Given the description of an element on the screen output the (x, y) to click on. 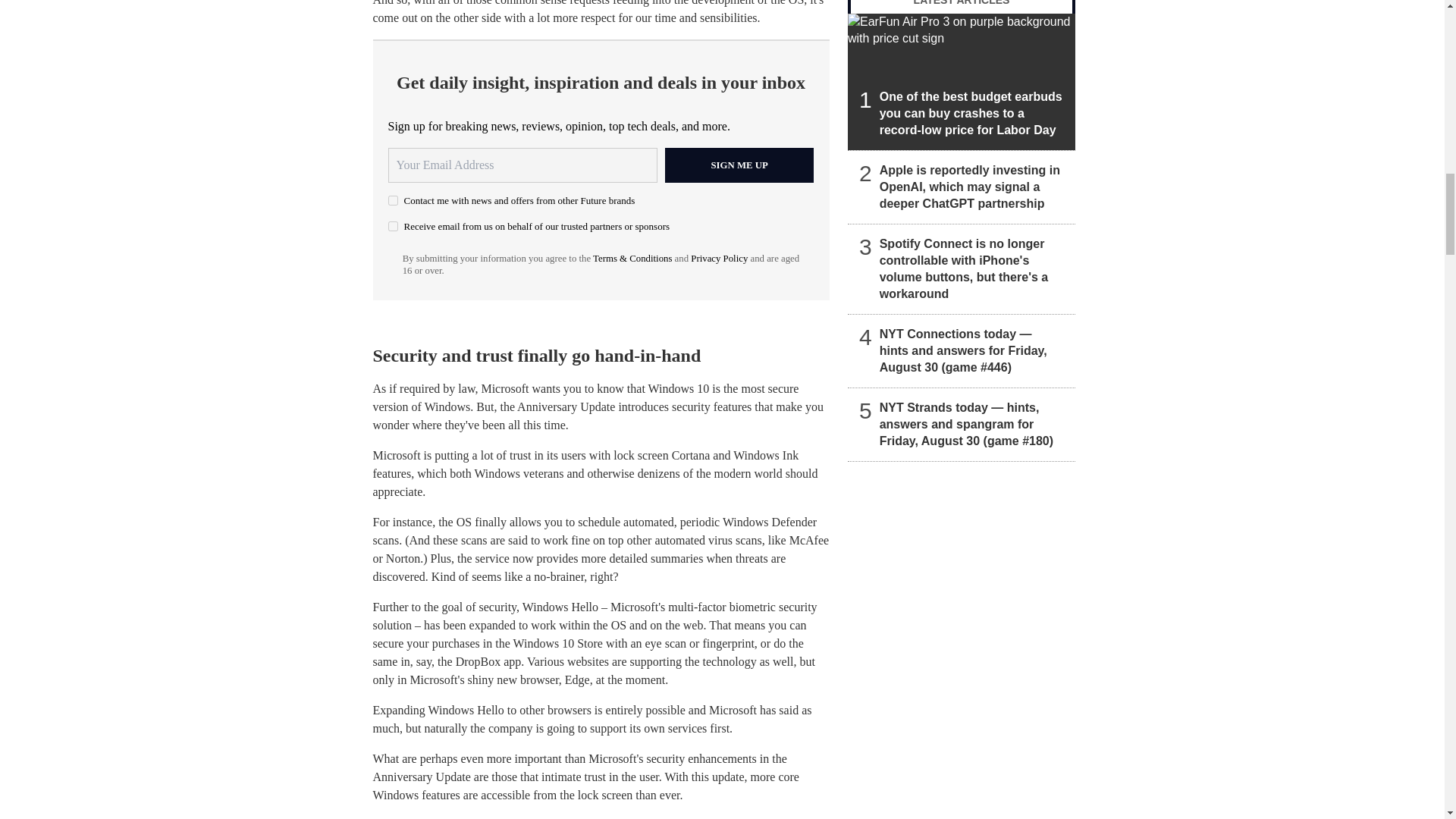
on (392, 225)
Sign me up (739, 165)
on (392, 200)
